Given the description of an element on the screen output the (x, y) to click on. 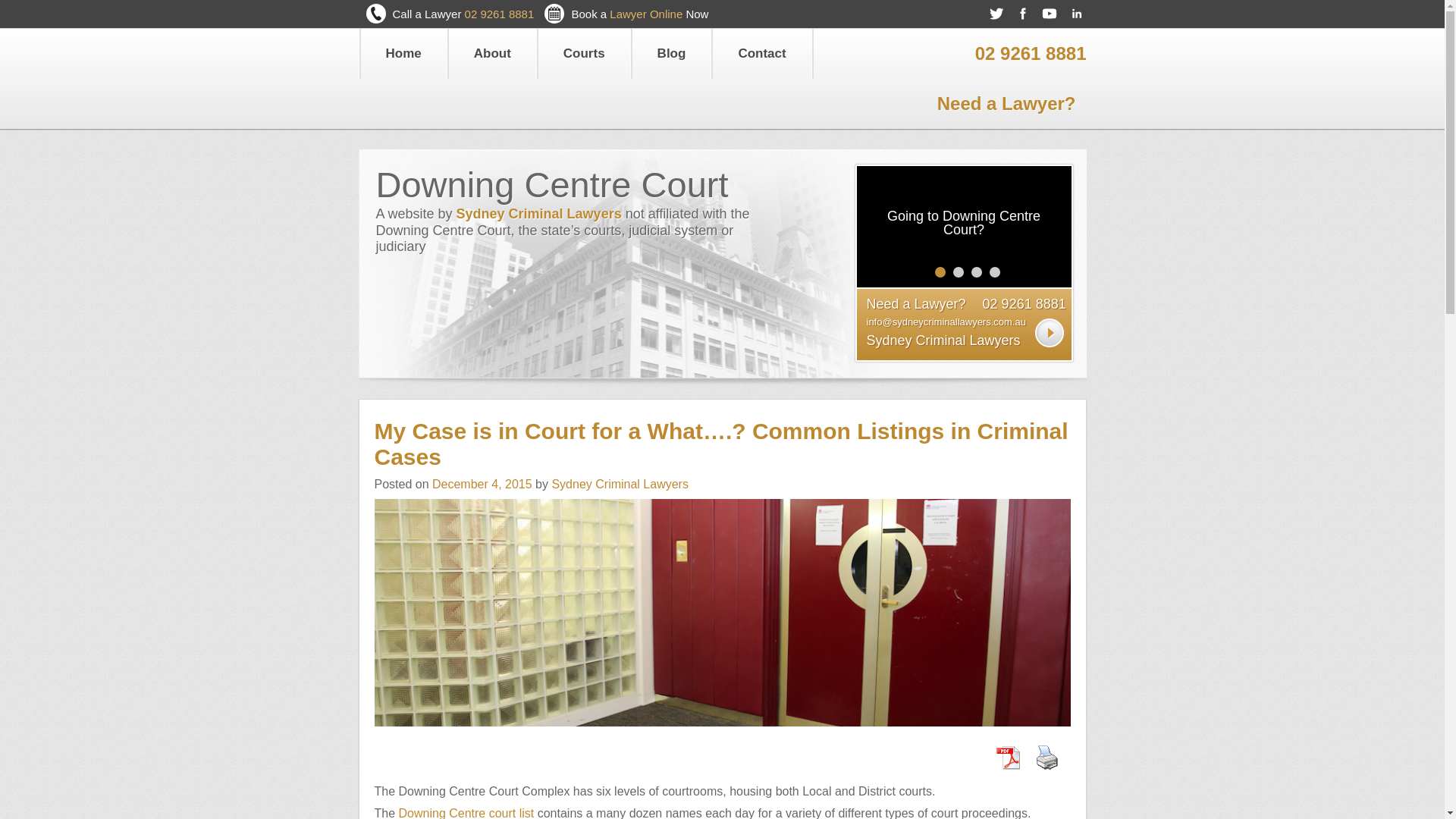
Print Content (1046, 757)
December 4, 2015 (482, 483)
View PDF (1007, 757)
Contact (761, 53)
Downing Centre court list (466, 812)
02 9261 8881 (1023, 303)
Blog (671, 53)
Home (403, 53)
Sydney Criminal Lawyers (943, 340)
About (491, 53)
Courts (584, 53)
View all posts by Sydney Criminal Lawyers (619, 483)
Call a Lawyer 02 9261 8881 (463, 13)
Book a Lawyer Online Now (638, 13)
12:19 pm (482, 483)
